Given the description of an element on the screen output the (x, y) to click on. 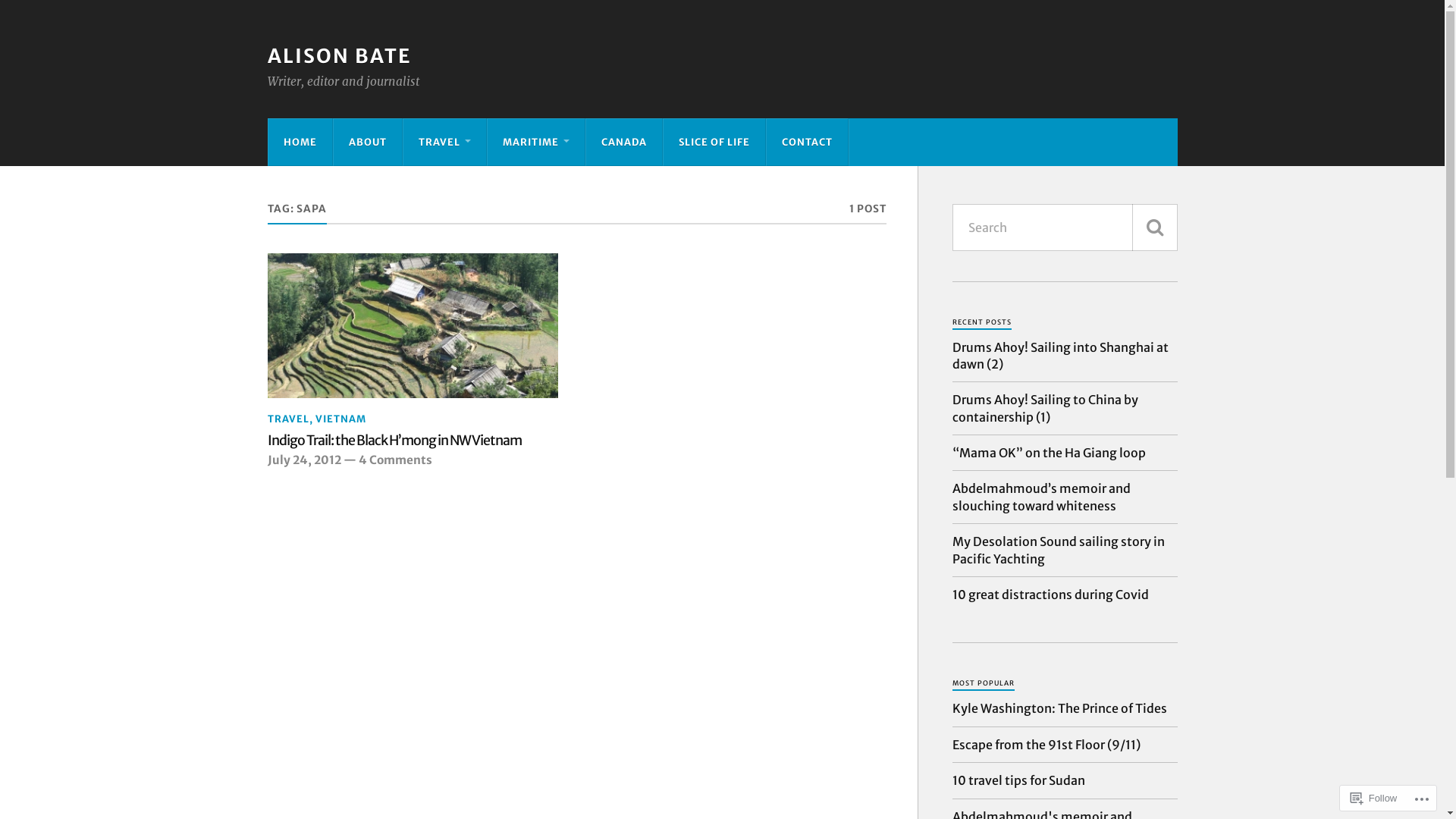
TRAVEL Element type: text (444, 141)
CANADA Element type: text (623, 141)
ABOUT Element type: text (367, 141)
My Desolation Sound sailing story in Pacific Yachting Element type: text (1064, 550)
Kyle Washington: The Prince of Tides Element type: text (1059, 707)
10 great distractions during Covid Element type: text (1050, 594)
SLICE OF LIFE Element type: text (713, 141)
July 24, 2012 Element type: text (303, 459)
TRAVEL Element type: text (287, 418)
Follow Element type: text (1373, 797)
4 Comments Element type: text (394, 459)
CONTACT Element type: text (806, 141)
Search for: Element type: hover (1064, 227)
Drums Ahoy! Sailing to China by containership (1) Element type: text (1064, 408)
HOME Element type: text (300, 141)
10 travel tips for Sudan Element type: text (1018, 779)
MARITIME Element type: text (534, 141)
Escape from the 91st Floor (9/11) Element type: text (1046, 744)
ALISON BATE Element type: text (338, 55)
VIETNAM Element type: text (340, 418)
Drums Ahoy! Sailing into Shanghai at dawn (2) Element type: text (1064, 355)
